Given the description of an element on the screen output the (x, y) to click on. 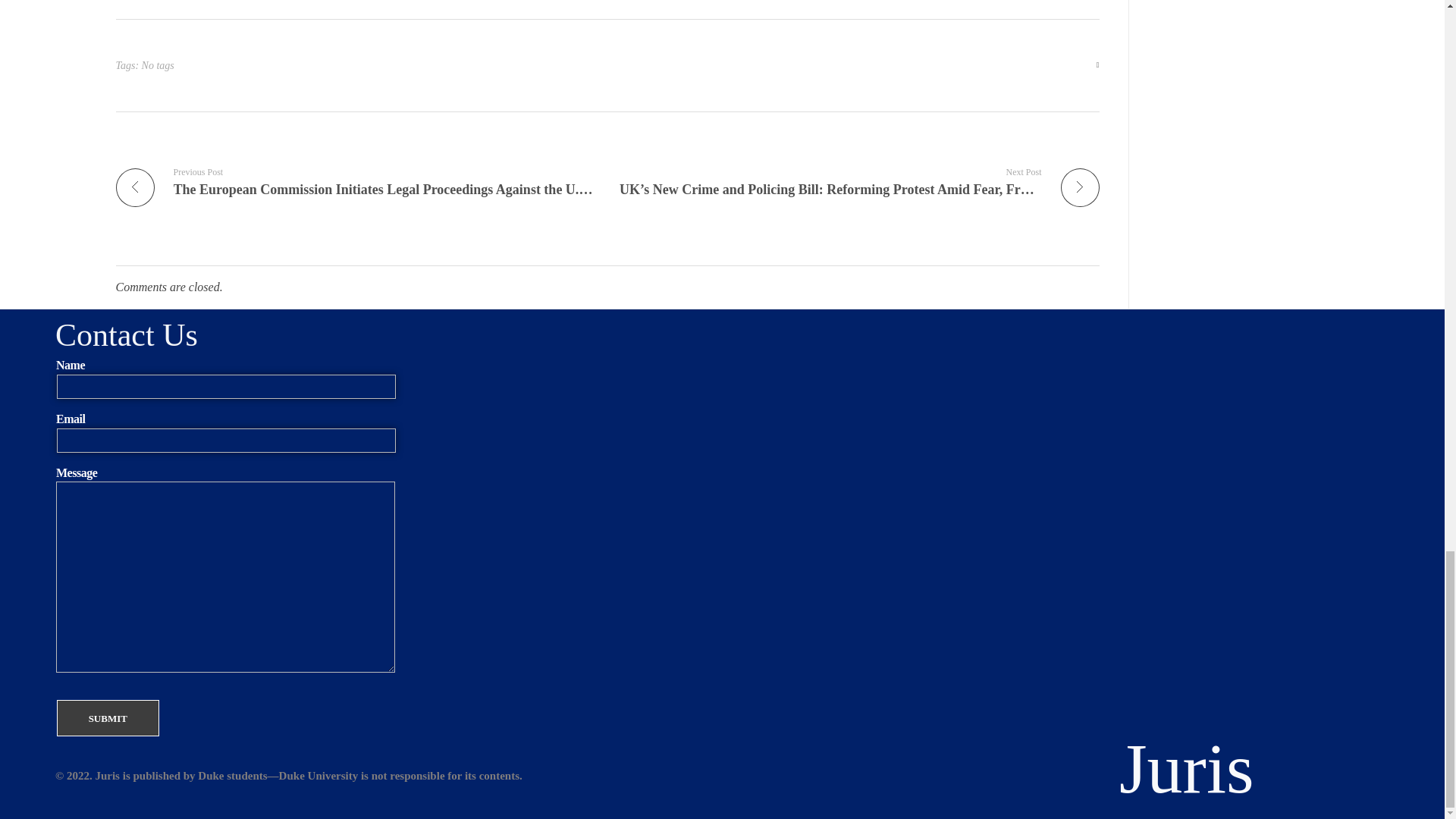
Submit (107, 718)
